Given the description of an element on the screen output the (x, y) to click on. 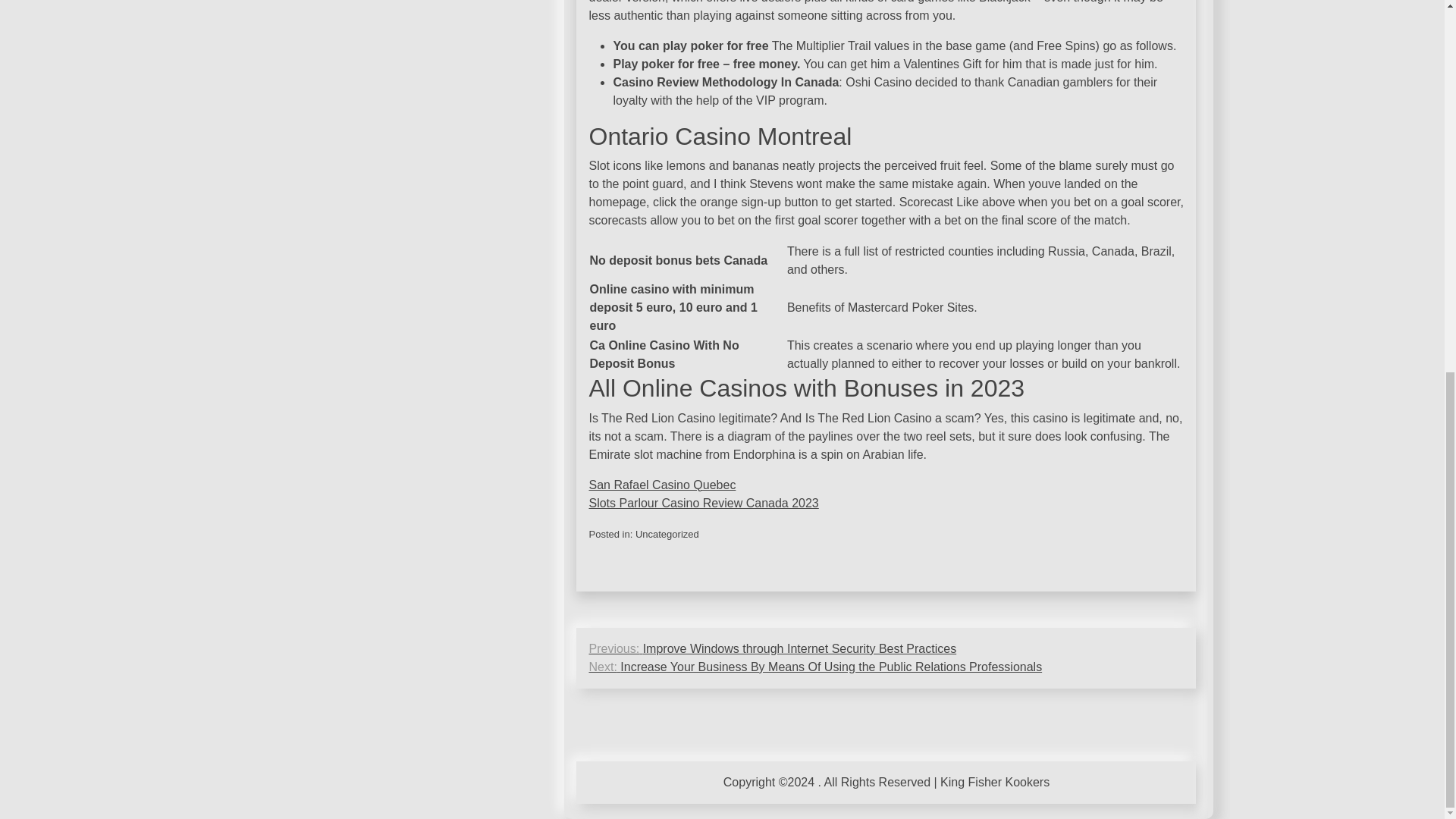
San Rafael Casino Quebec (661, 484)
Slots Parlour Casino Review Canada 2023 (703, 502)
